Given the description of an element on the screen output the (x, y) to click on. 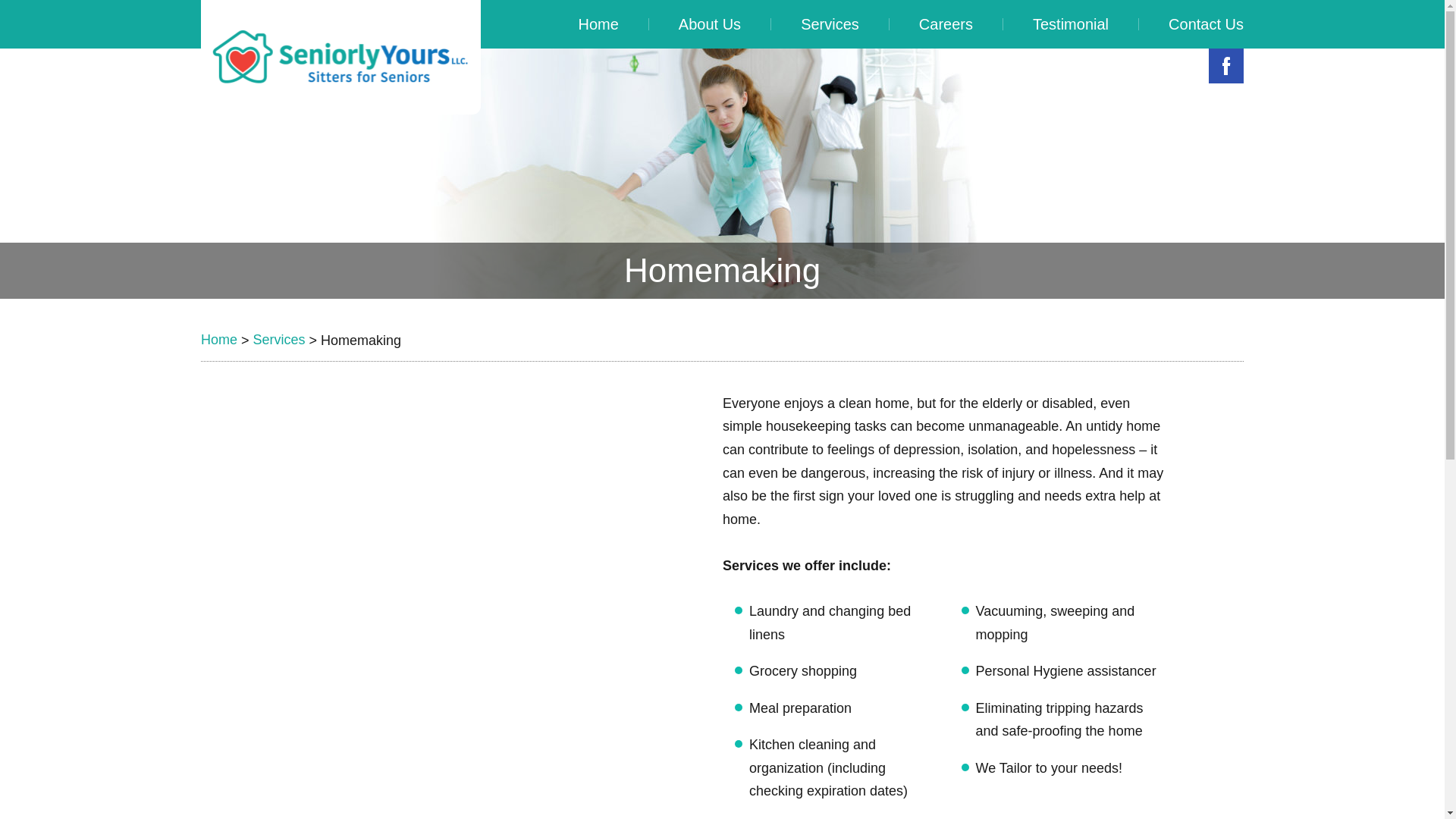
Services (279, 340)
Contact Us (1191, 24)
Home (598, 24)
About Us (709, 24)
Go to Services. (279, 340)
Careers (946, 24)
Services (829, 24)
Testimonial (1070, 24)
Home (218, 340)
Go to Home. (218, 340)
